Given the description of an element on the screen output the (x, y) to click on. 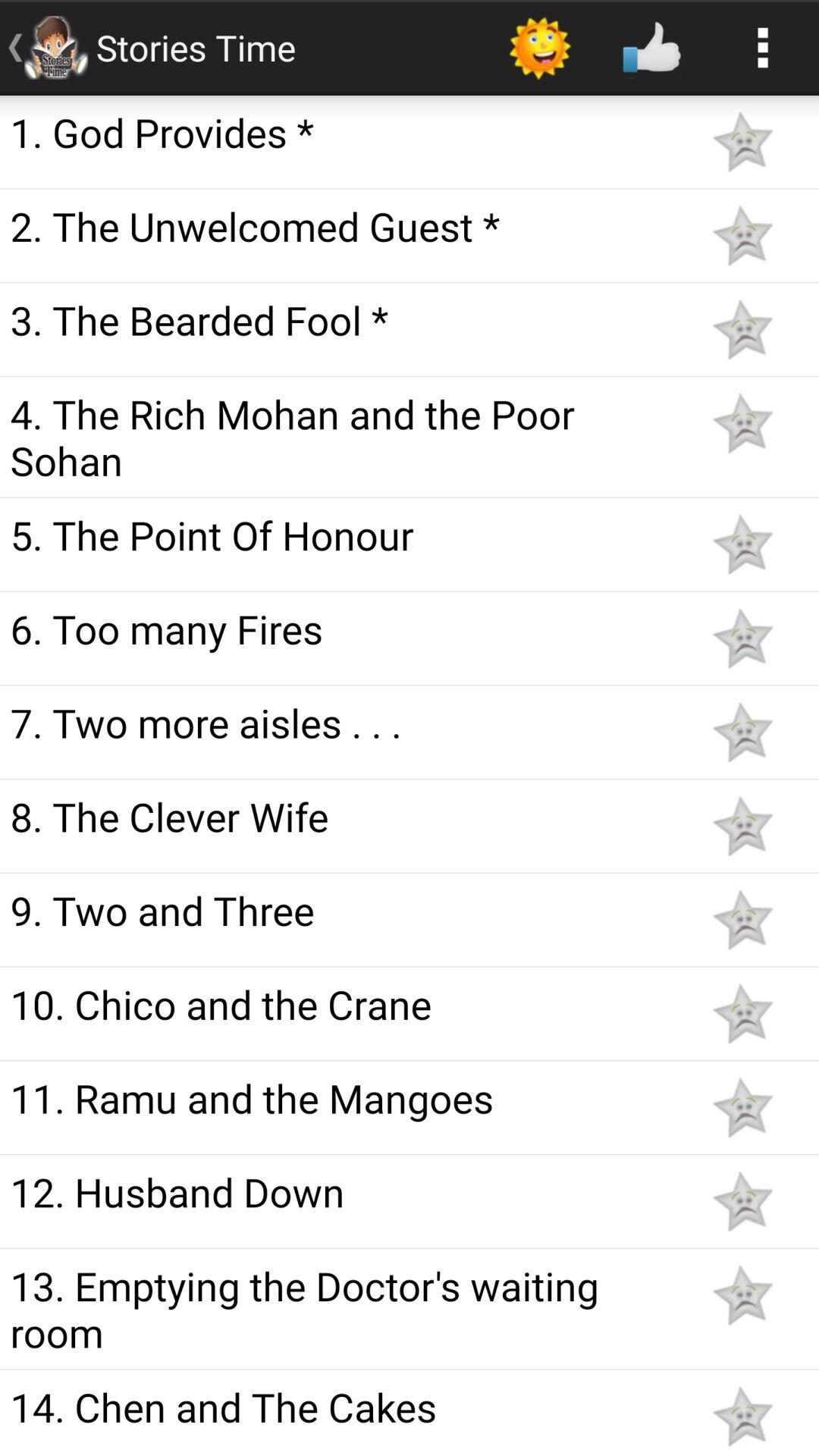
add to favorites (742, 919)
